Given the description of an element on the screen output the (x, y) to click on. 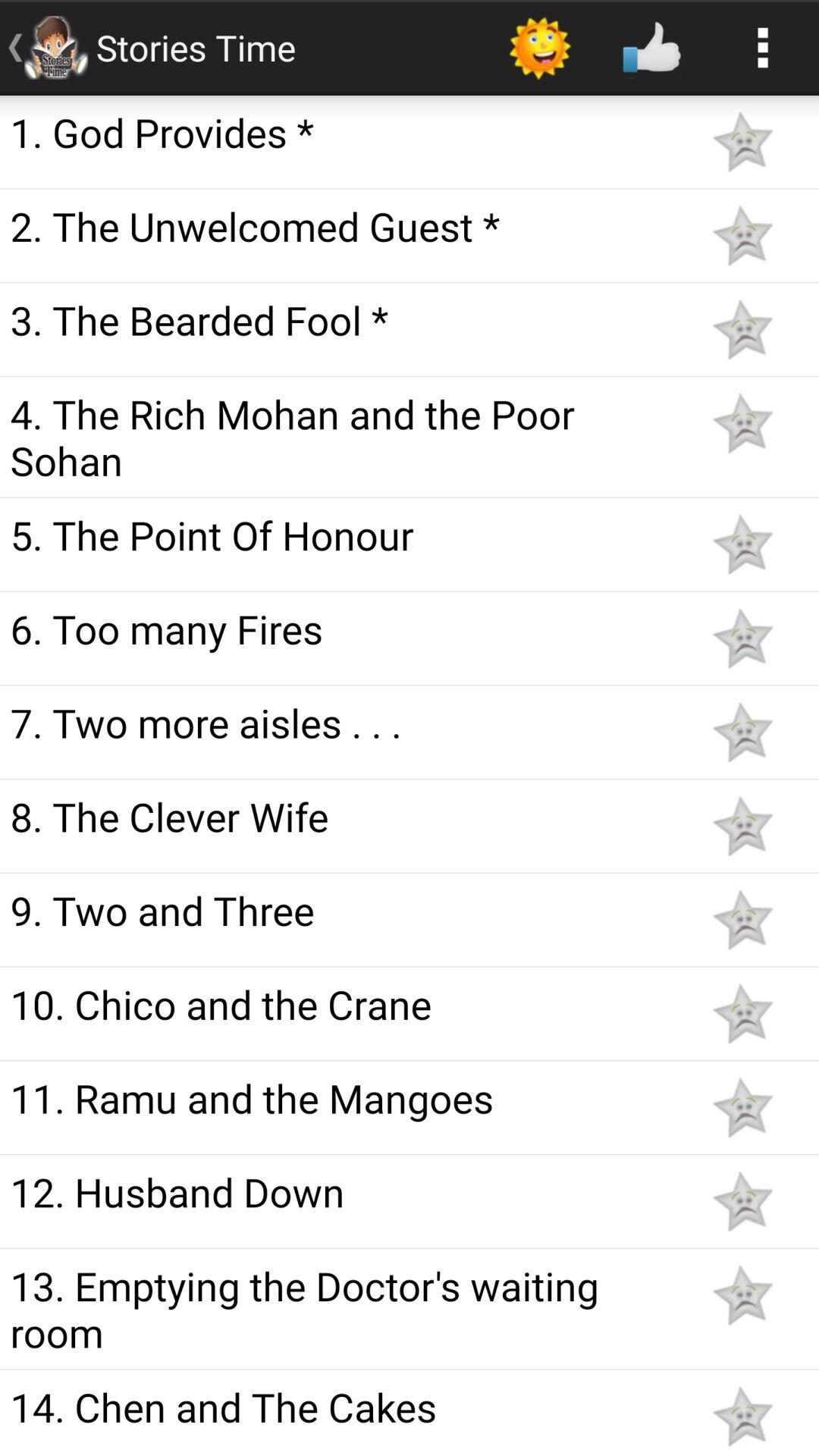
add to favorites (742, 919)
